Given the description of an element on the screen output the (x, y) to click on. 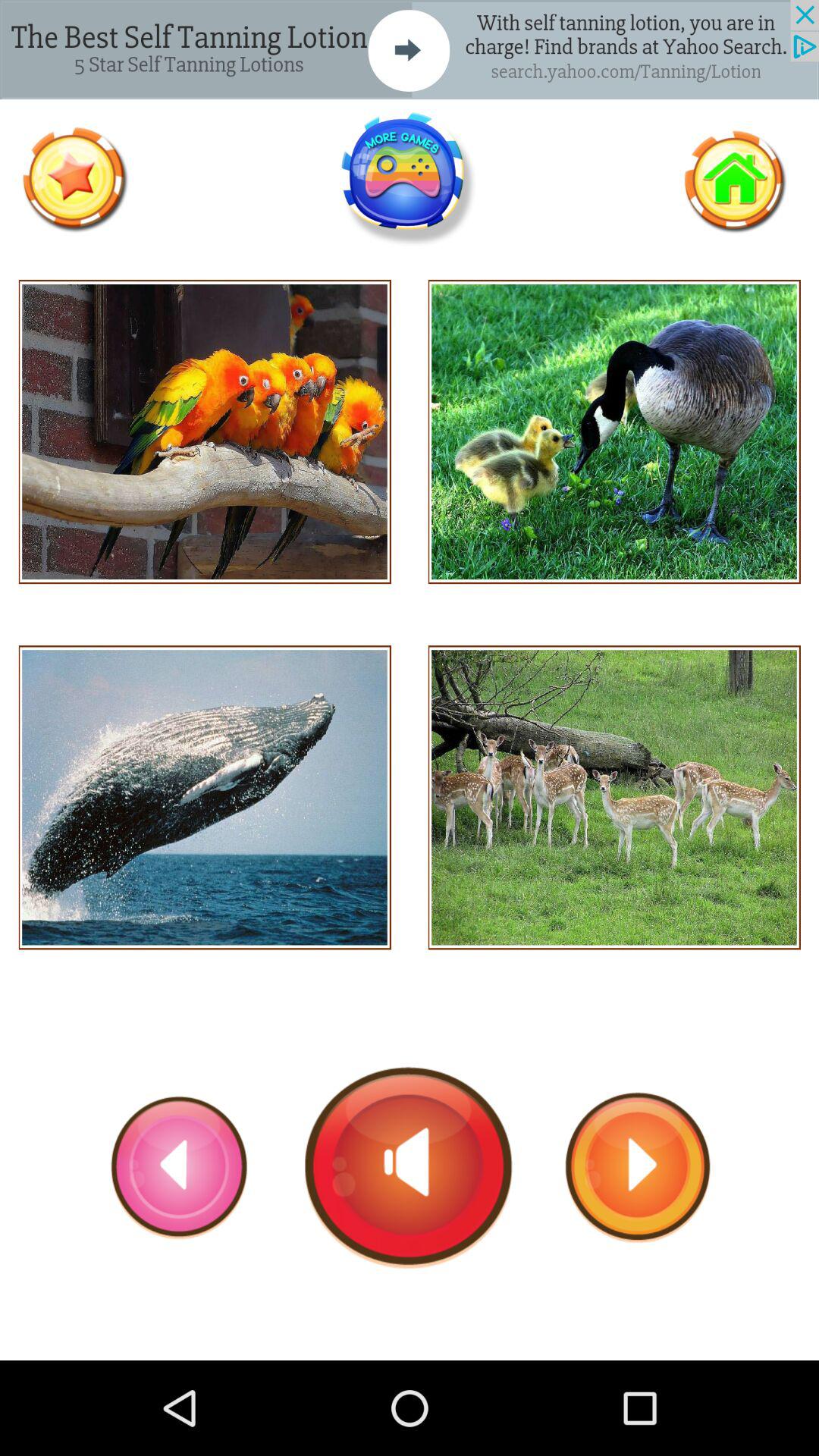
adjust volume (408, 1166)
